Given the description of an element on the screen output the (x, y) to click on. 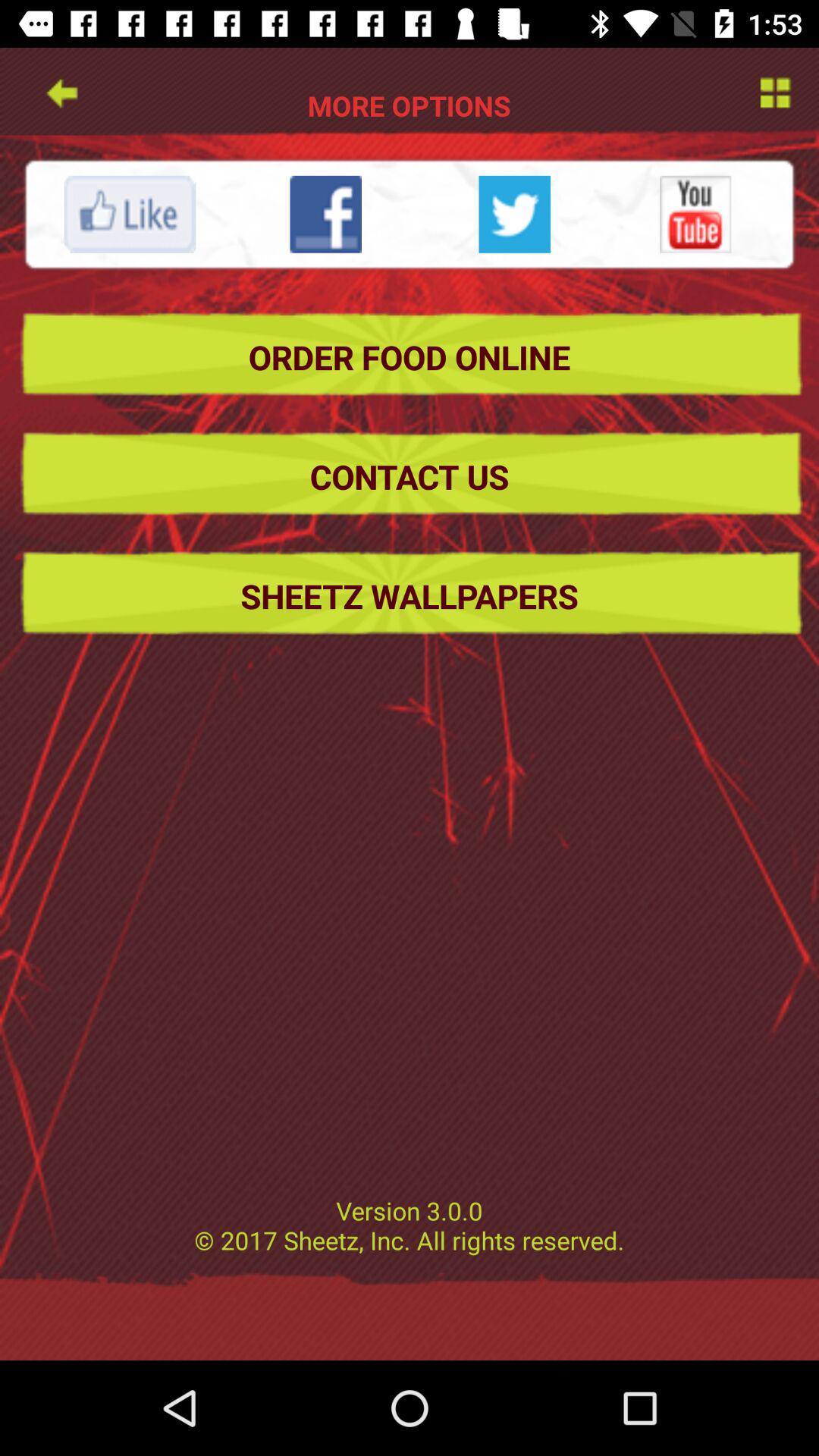
you tube icon (695, 214)
